Given the description of an element on the screen output the (x, y) to click on. 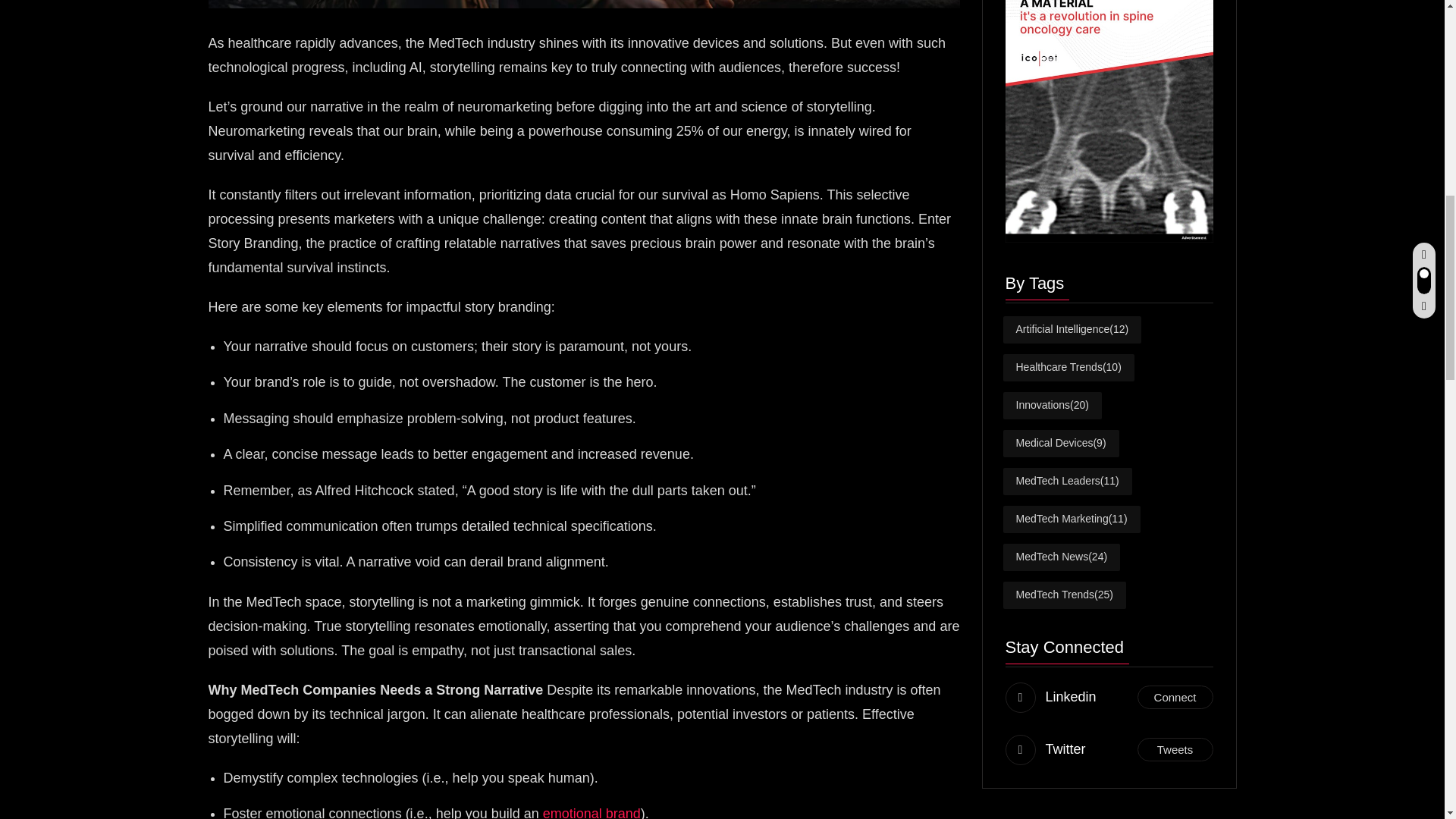
ioctec ad (1109, 104)
